Given the description of an element on the screen output the (x, y) to click on. 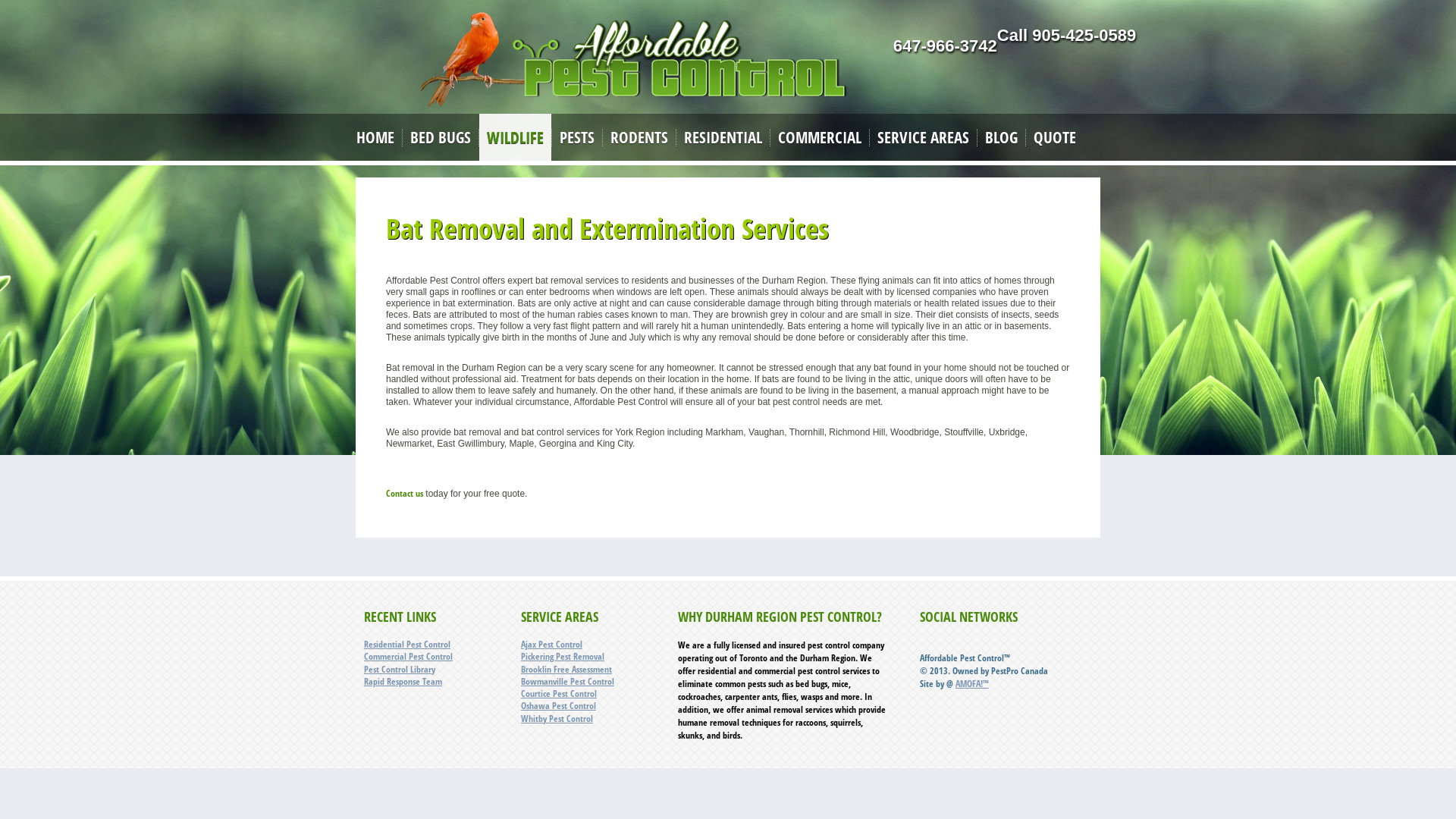
BED BUGS Element type: text (440, 136)
Oshawa Pest Control Element type: text (558, 705)
Bowmanville Pest Control Element type: text (567, 680)
HOME Element type: text (374, 136)
Pest Control Library Element type: text (399, 668)
Pickering Pest Removal Element type: text (562, 655)
RODENTS Element type: text (638, 136)
647-966-3742 Element type: text (945, 45)
Residential Pest Control Element type: text (407, 643)
WILDLIFE Element type: text (515, 136)
QUOTE Element type: text (1054, 136)
SERVICE AREAS Element type: text (922, 136)
Whitby Pest Control Element type: text (556, 717)
Call 905-425-0589 Element type: text (1066, 34)
Commercial Pest Control Element type: text (408, 655)
BLOG Element type: text (1001, 136)
Rapid Response Team Element type: text (403, 680)
RESIDENTIAL Element type: text (722, 136)
Courtice Pest Control Element type: text (558, 693)
Ajax Pest Control Element type: text (551, 643)
Brooklin Free Assessment Element type: text (565, 668)
COMMERCIAL Element type: text (819, 136)
PESTS Element type: text (577, 136)
Contact us Element type: text (404, 492)
